Given the description of an element on the screen output the (x, y) to click on. 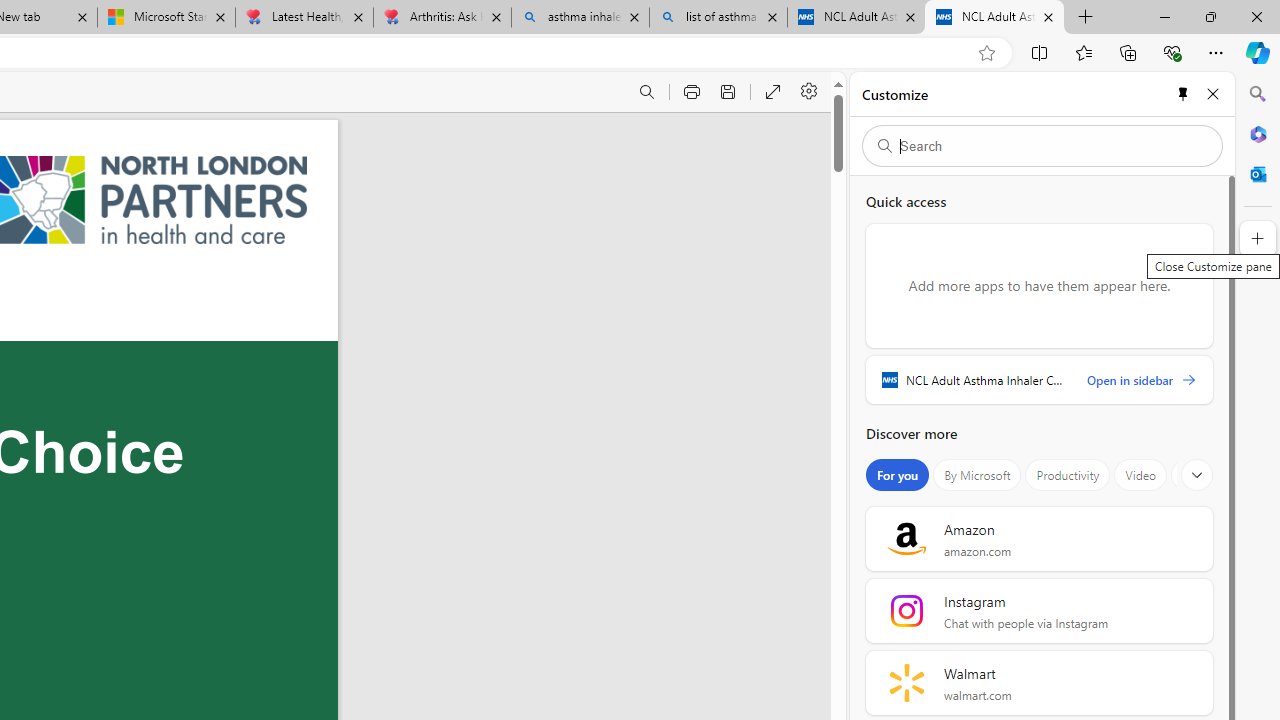
Settings and more (809, 92)
Enter PDF full screen (773, 92)
Save (Ctrl+S) (728, 92)
Show more (1197, 475)
